Given the description of an element on the screen output the (x, y) to click on. 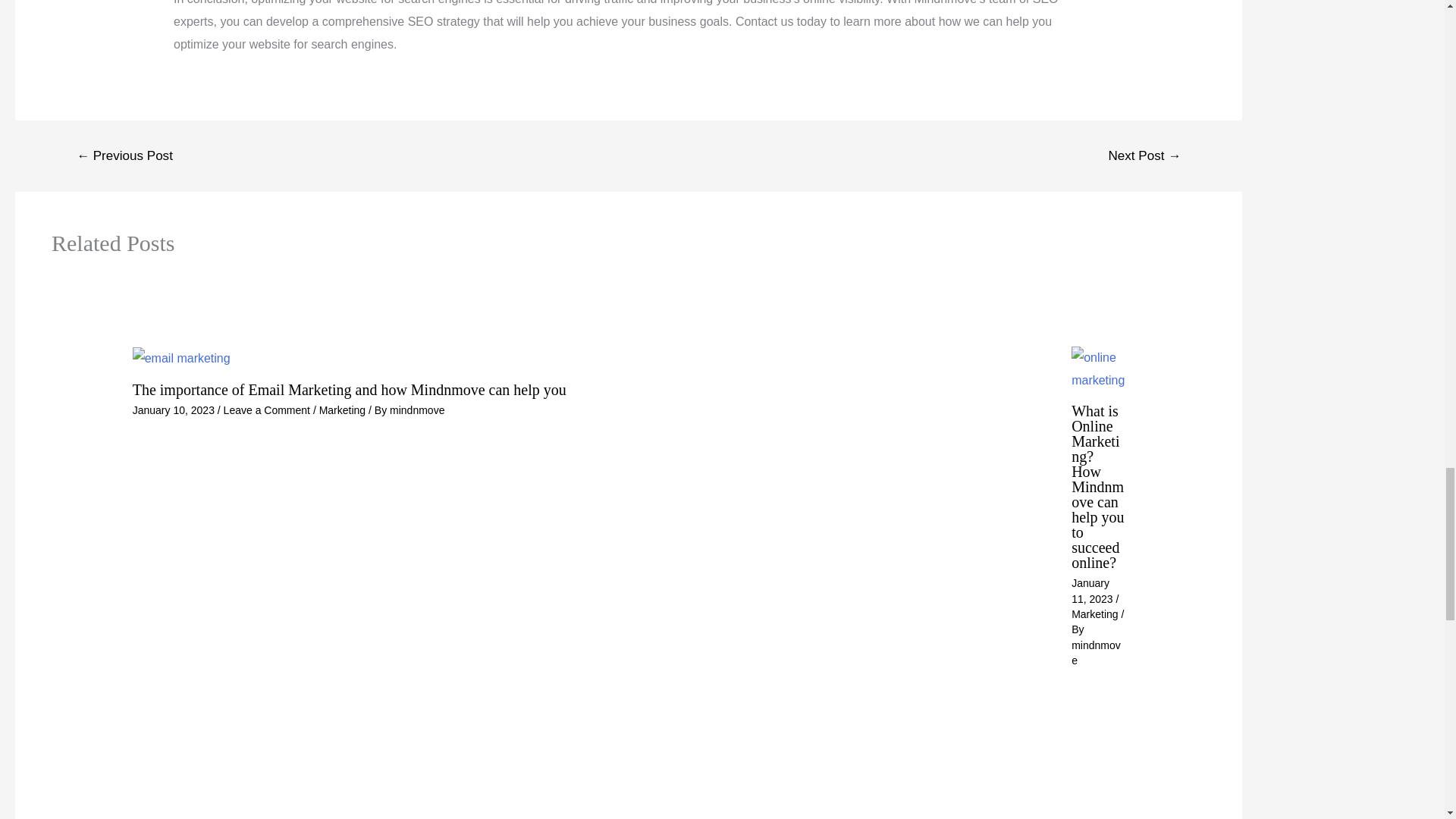
View all posts by mindnmove (417, 410)
View all posts by mindnmove (1096, 652)
